Given the description of an element on the screen output the (x, y) to click on. 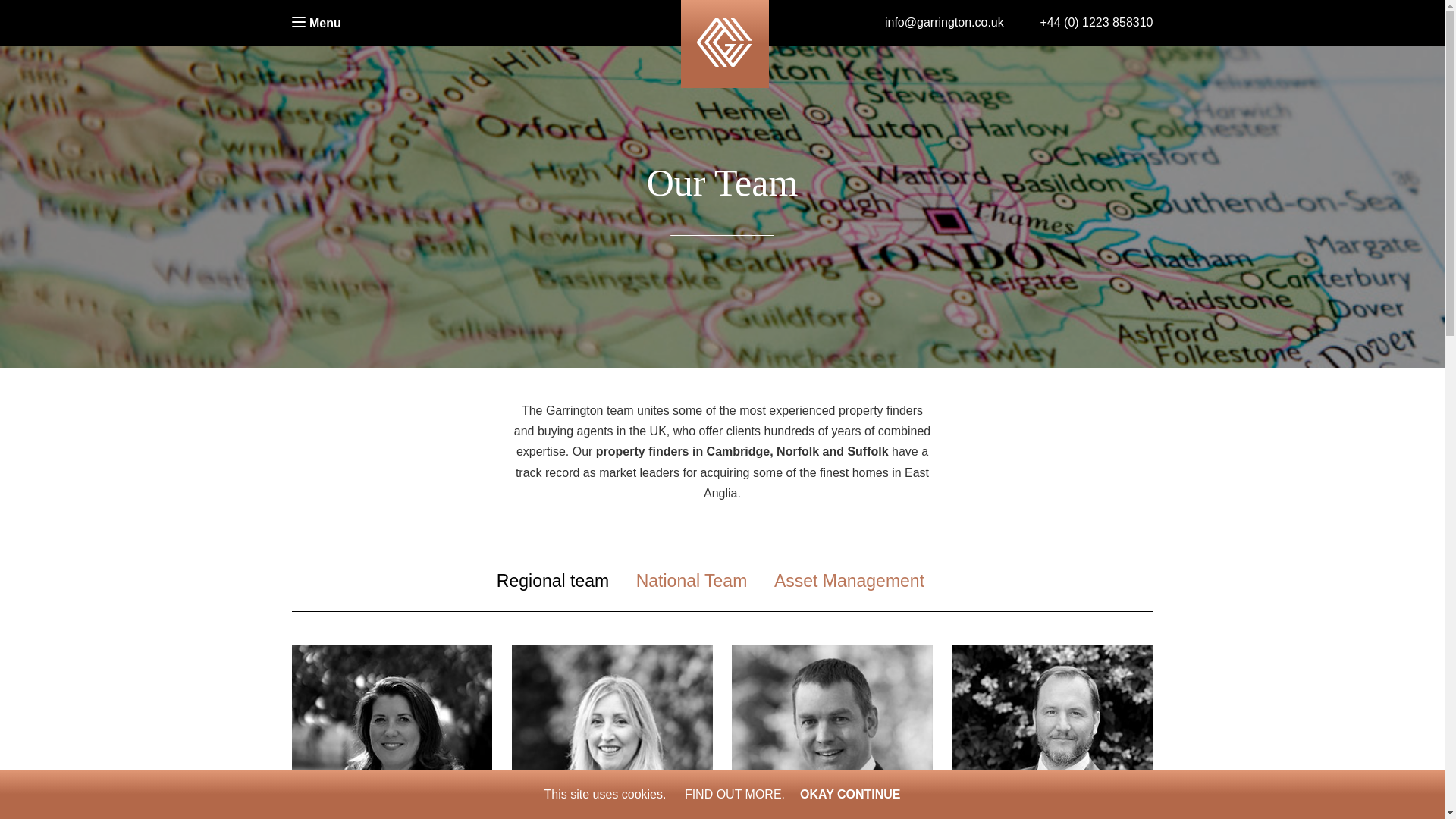
Regional team (563, 580)
Menu (315, 22)
National Team (703, 580)
Asset Management (860, 580)
